Given the description of an element on the screen output the (x, y) to click on. 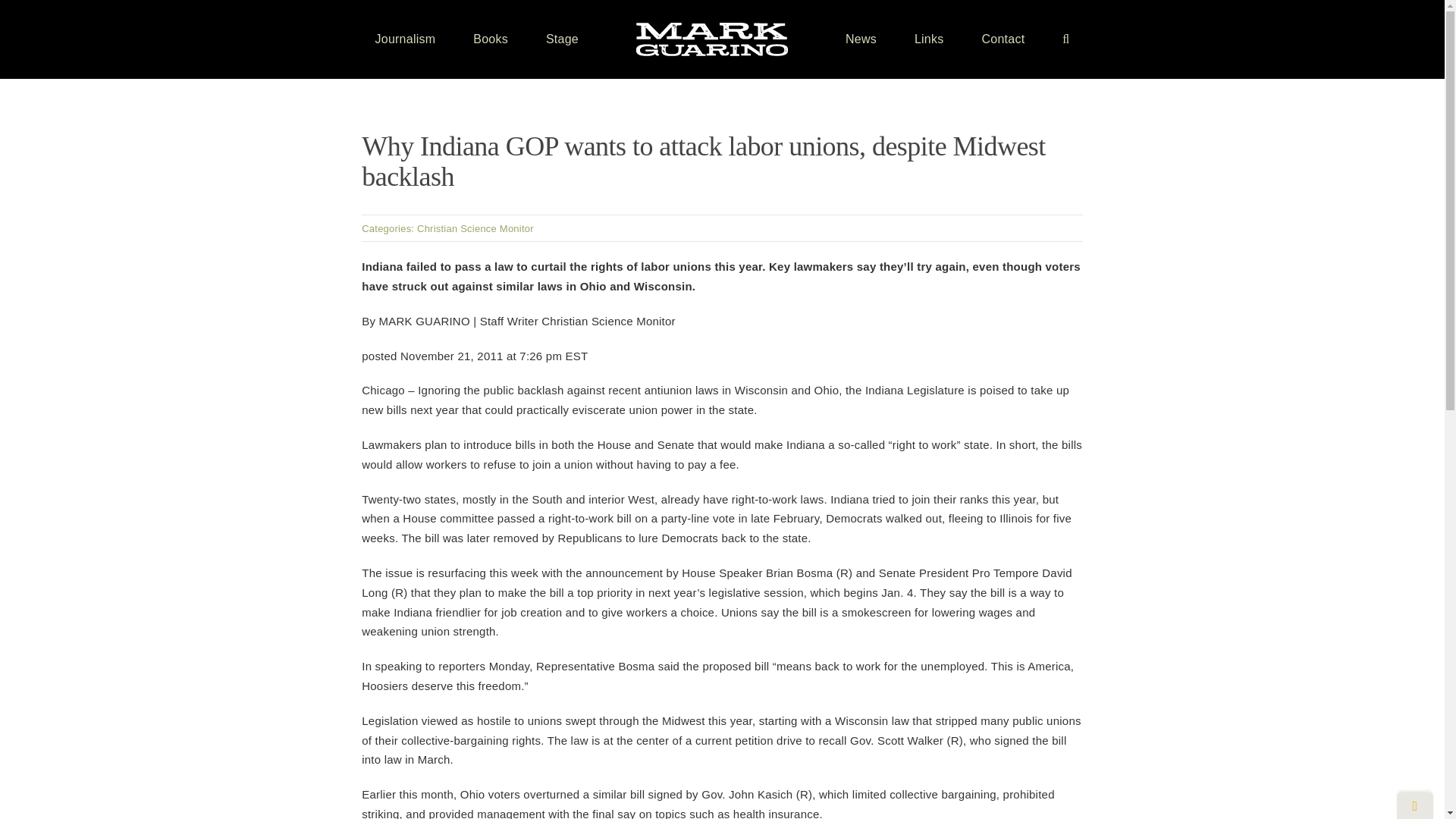
Contact (1003, 39)
Christian Science Monitor (475, 228)
Journalism (405, 39)
Stage (562, 39)
Books (490, 39)
News (860, 39)
Toggle Sliding Bar Area (1414, 805)
